Given the description of an element on the screen output the (x, y) to click on. 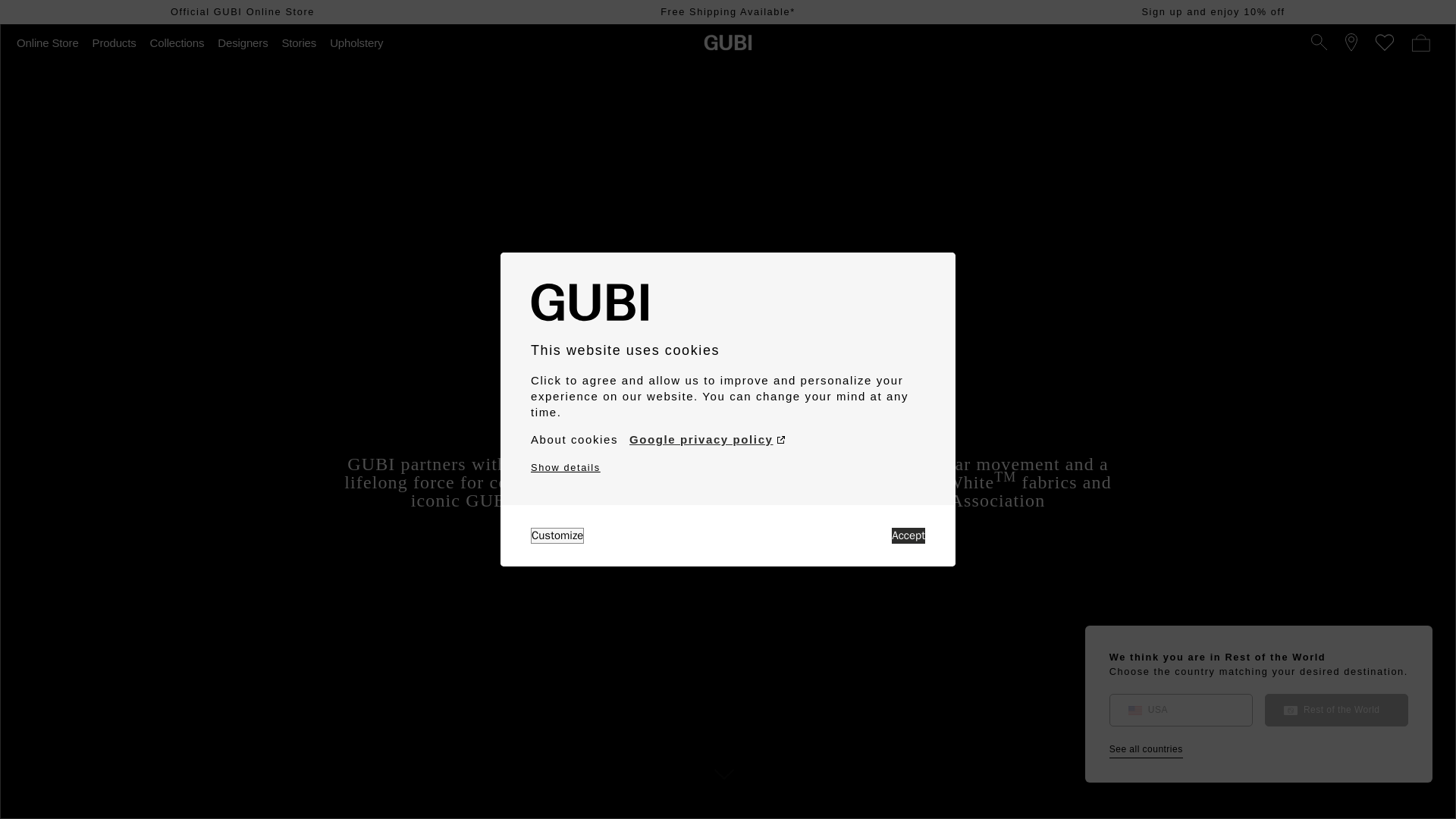
Google privacy policy (707, 439)
Show details (565, 467)
About cookies (574, 439)
